Given the description of an element on the screen output the (x, y) to click on. 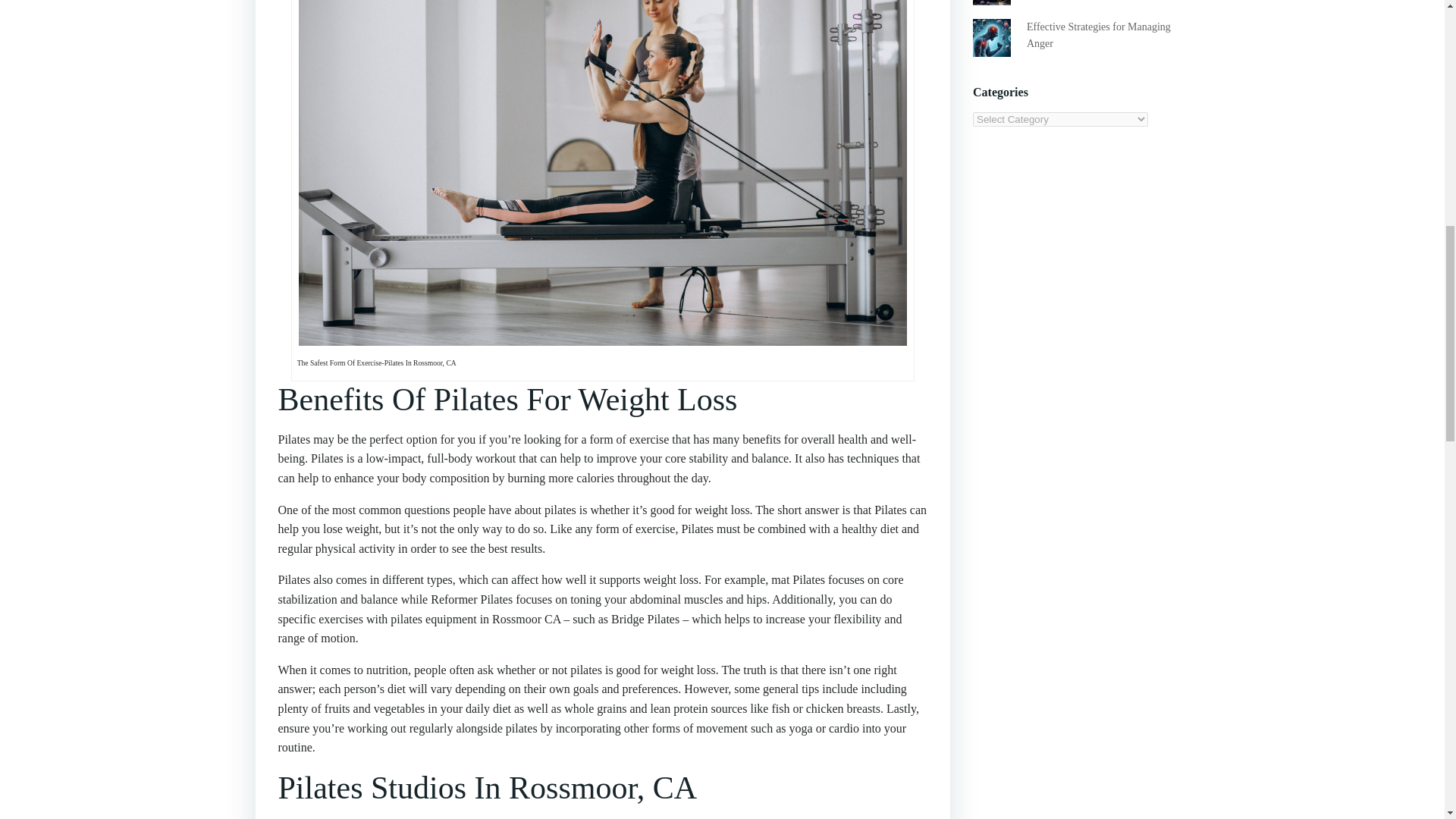
Effective Strategies for Managing Anger (1098, 35)
